Given the description of an element on the screen output the (x, y) to click on. 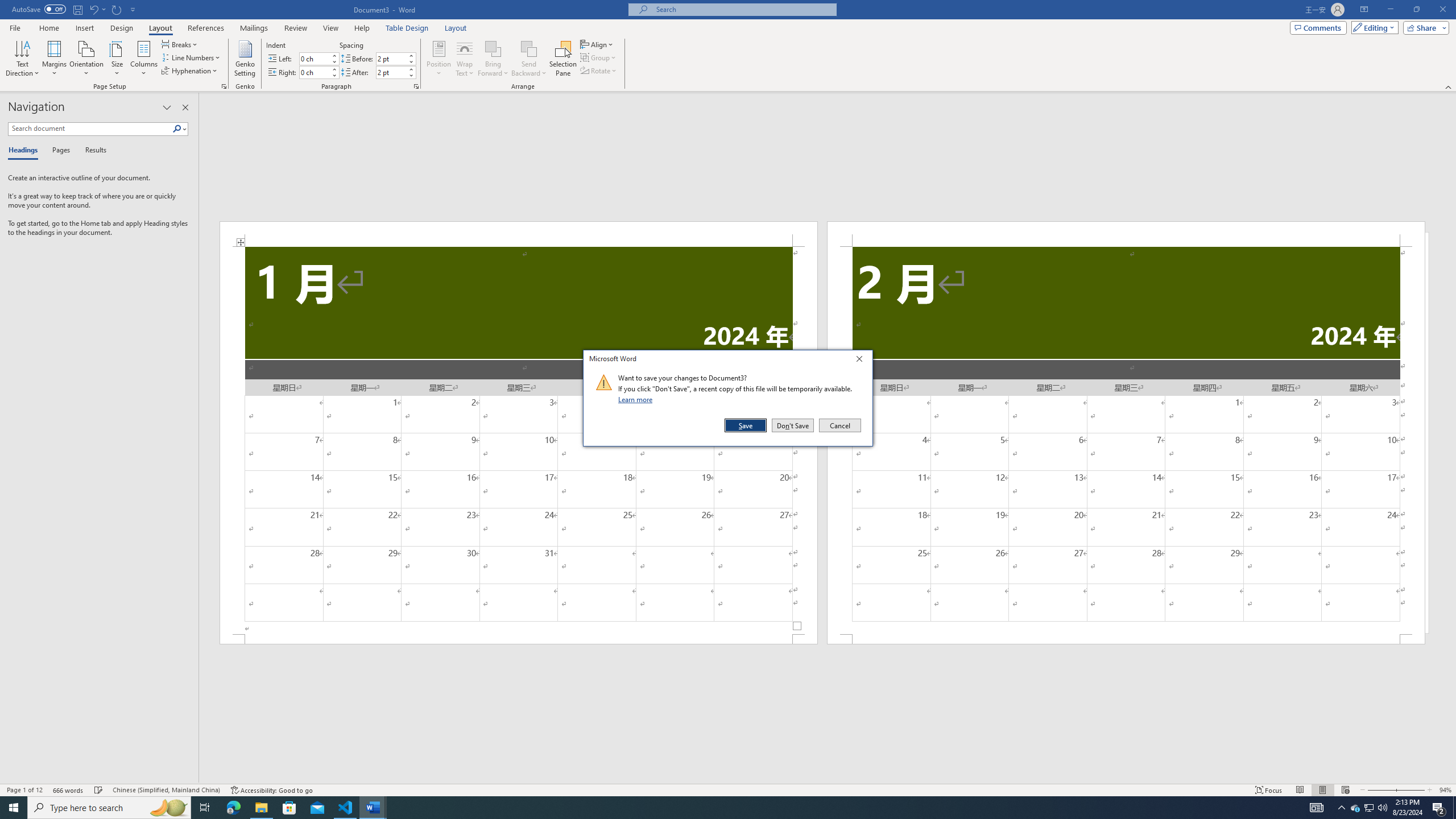
Headings (25, 150)
Spacing After (391, 72)
User Promoted Notification Area (1368, 807)
Focus  (1268, 790)
Mailings (253, 28)
Header -Section 1- (518, 233)
Layout (455, 28)
Footer -Section 1- (518, 638)
Margins (54, 58)
Breaks (179, 44)
Action Center, 2 new notifications (1439, 807)
Page Number Page 1 of 12 (24, 790)
Don't Save (792, 425)
Learn more (636, 399)
